Given the description of an element on the screen output the (x, y) to click on. 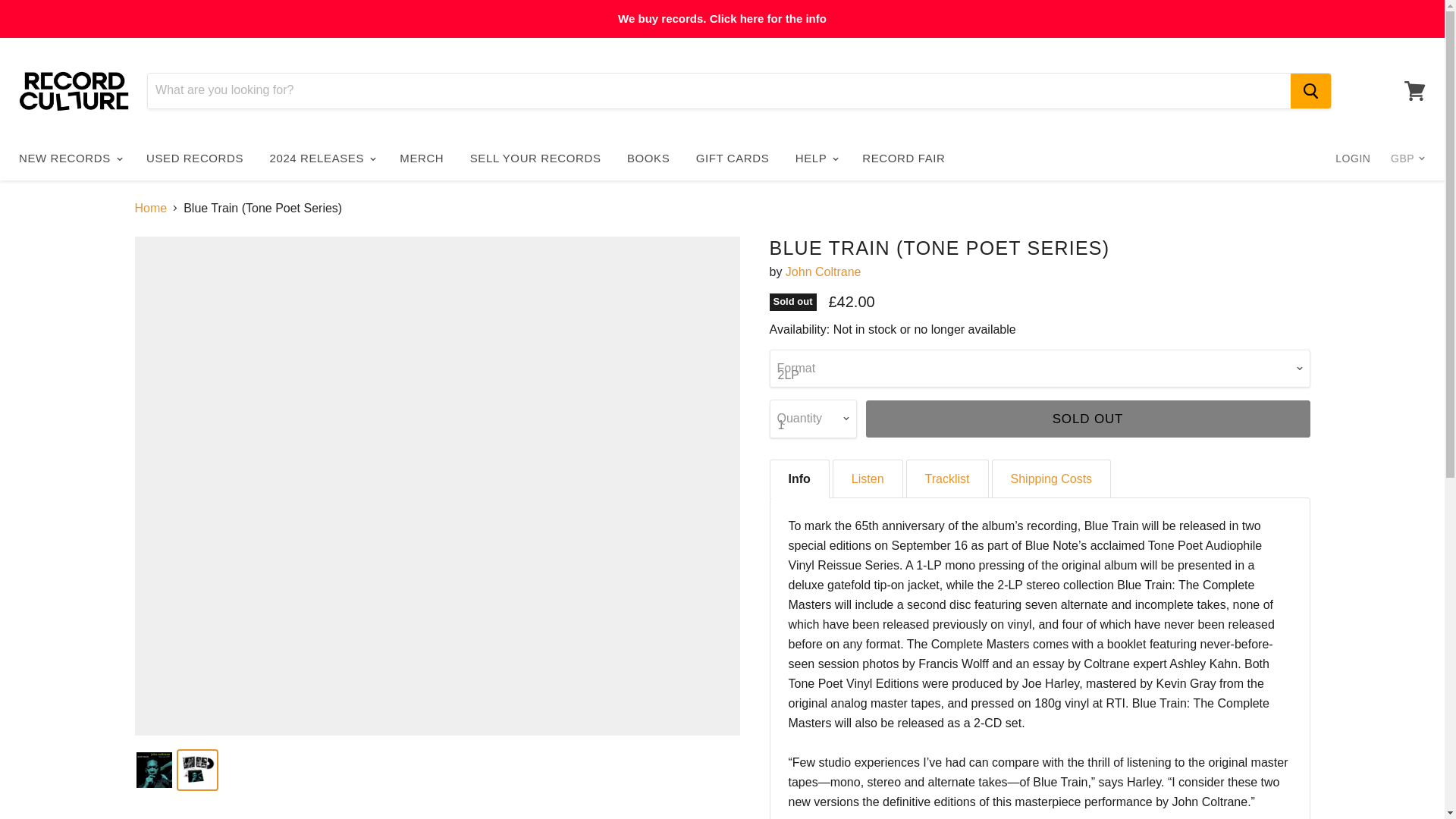
View cart (1414, 89)
NEW RECORDS (69, 158)
John Coltrane (823, 271)
USED RECORDS (194, 158)
2024 RELEASES (322, 158)
